Given the description of an element on the screen output the (x, y) to click on. 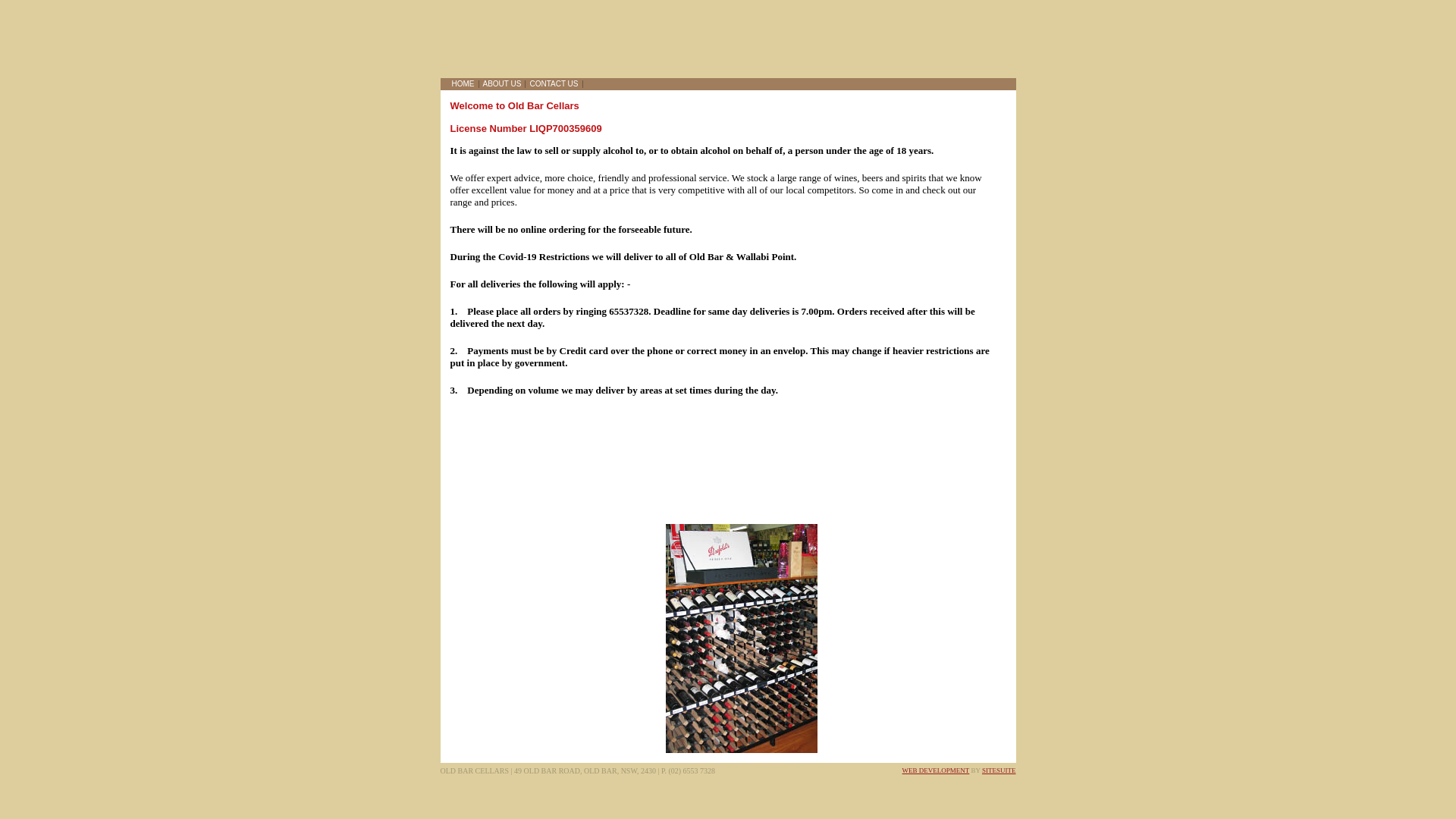
HOME Element type: text (462, 83)
ABOUT US Element type: text (502, 83)
WEB DEVELOPMENT Element type: text (935, 770)
2007 NSW Liquor Store of the Year Element type: hover (908, 69)
CONTACT US Element type: text (553, 83)
SITESUITE Element type: text (999, 770)
pic_of_shop Element type: hover (741, 638)
2007 NSW Liquor Store of the Year Element type: hover (908, 59)
